Given the description of an element on the screen output the (x, y) to click on. 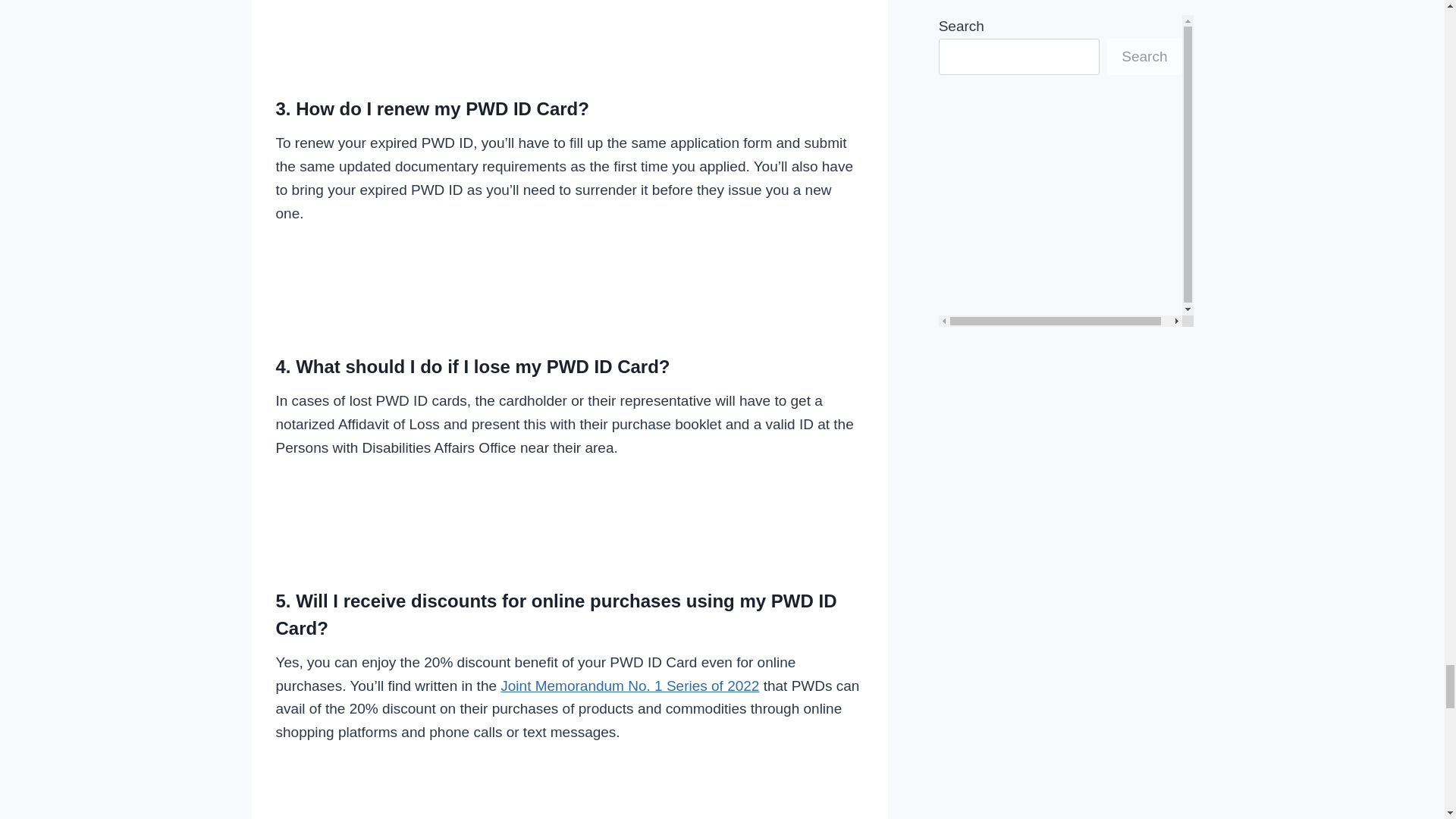
Joint Memorandum No. 1 Series of 2022 (629, 685)
